Given the description of an element on the screen output the (x, y) to click on. 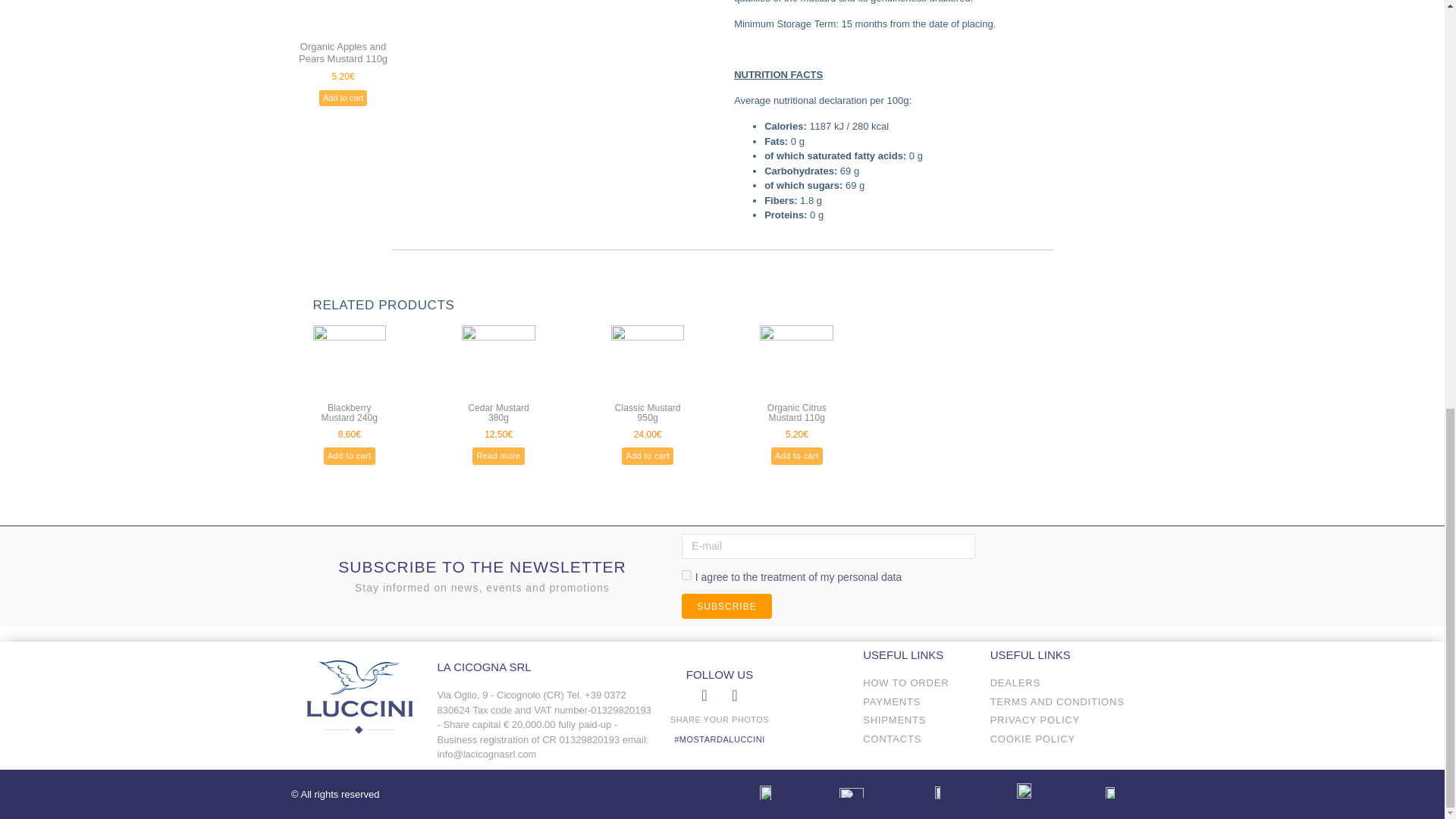
Add to cart (646, 456)
Add to cart (342, 98)
on (686, 574)
Read more (497, 456)
Add to cart (349, 456)
